Given the description of an element on the screen output the (x, y) to click on. 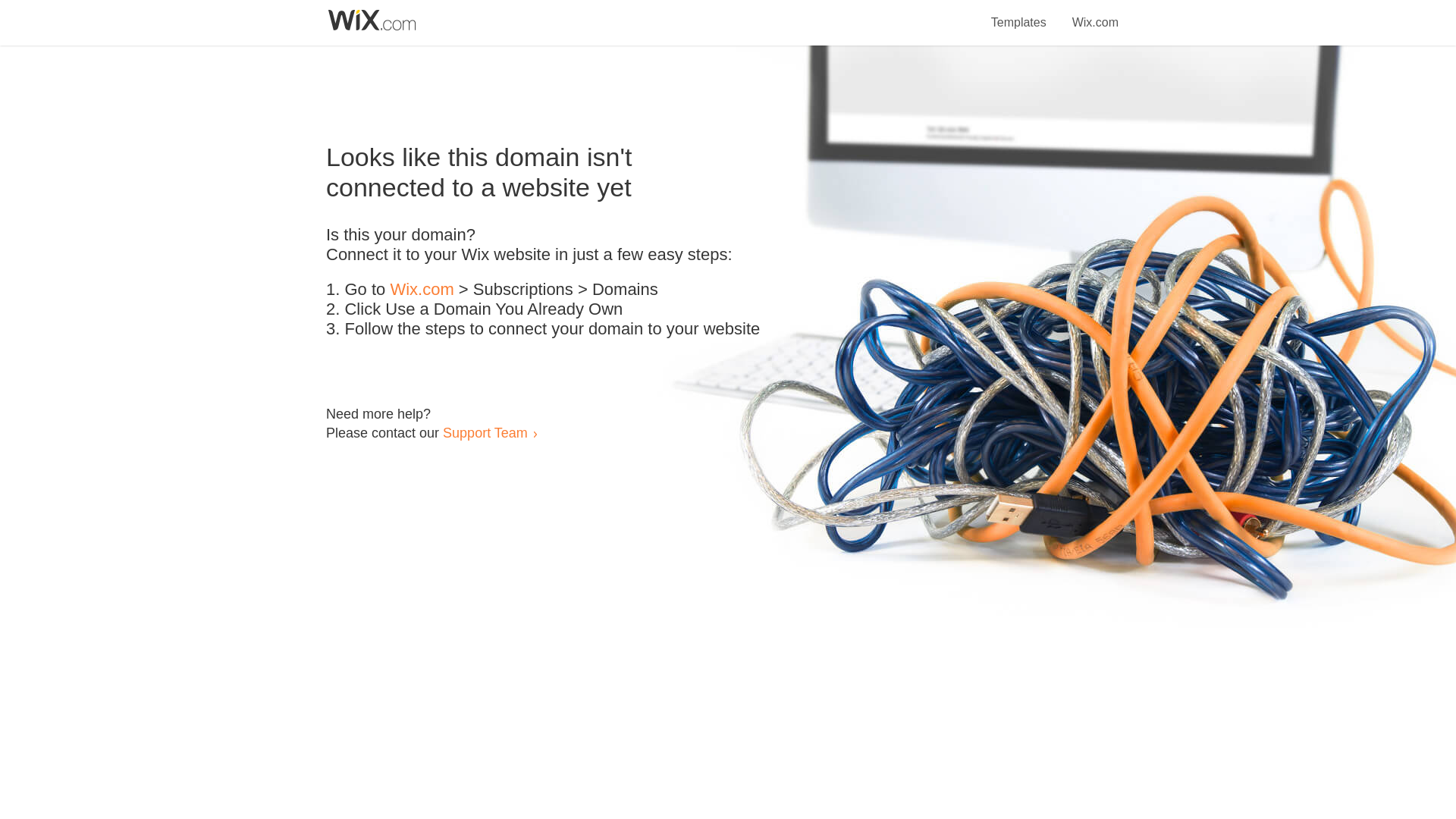
Support Team (484, 432)
Templates (1018, 14)
Wix.com (421, 289)
Wix.com (1095, 14)
